Given the description of an element on the screen output the (x, y) to click on. 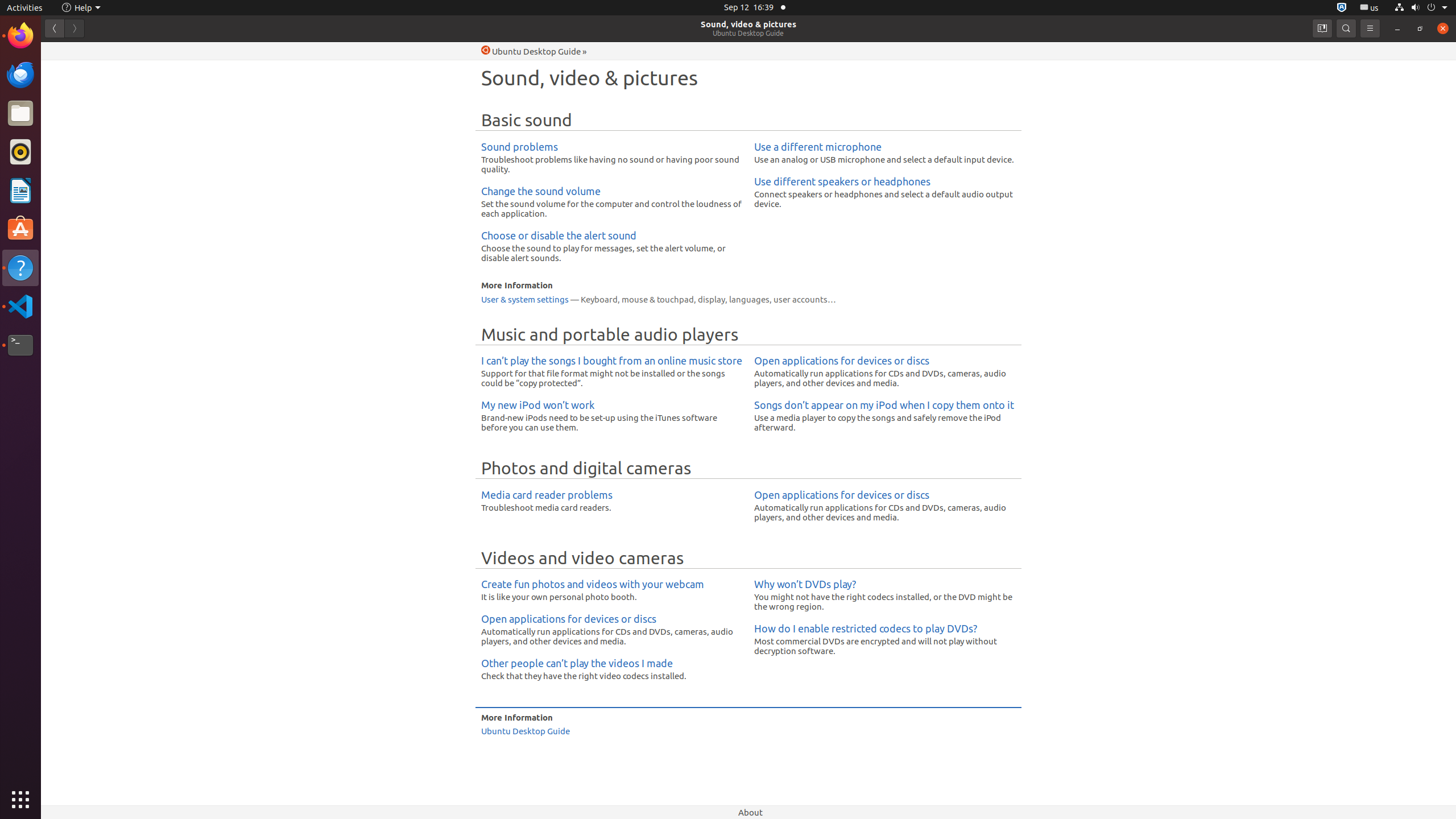
Use different speakers or headphones Connect speakers or headphones and select a default audio output device. Element type: link (884, 191)
